Given the description of an element on the screen output the (x, y) to click on. 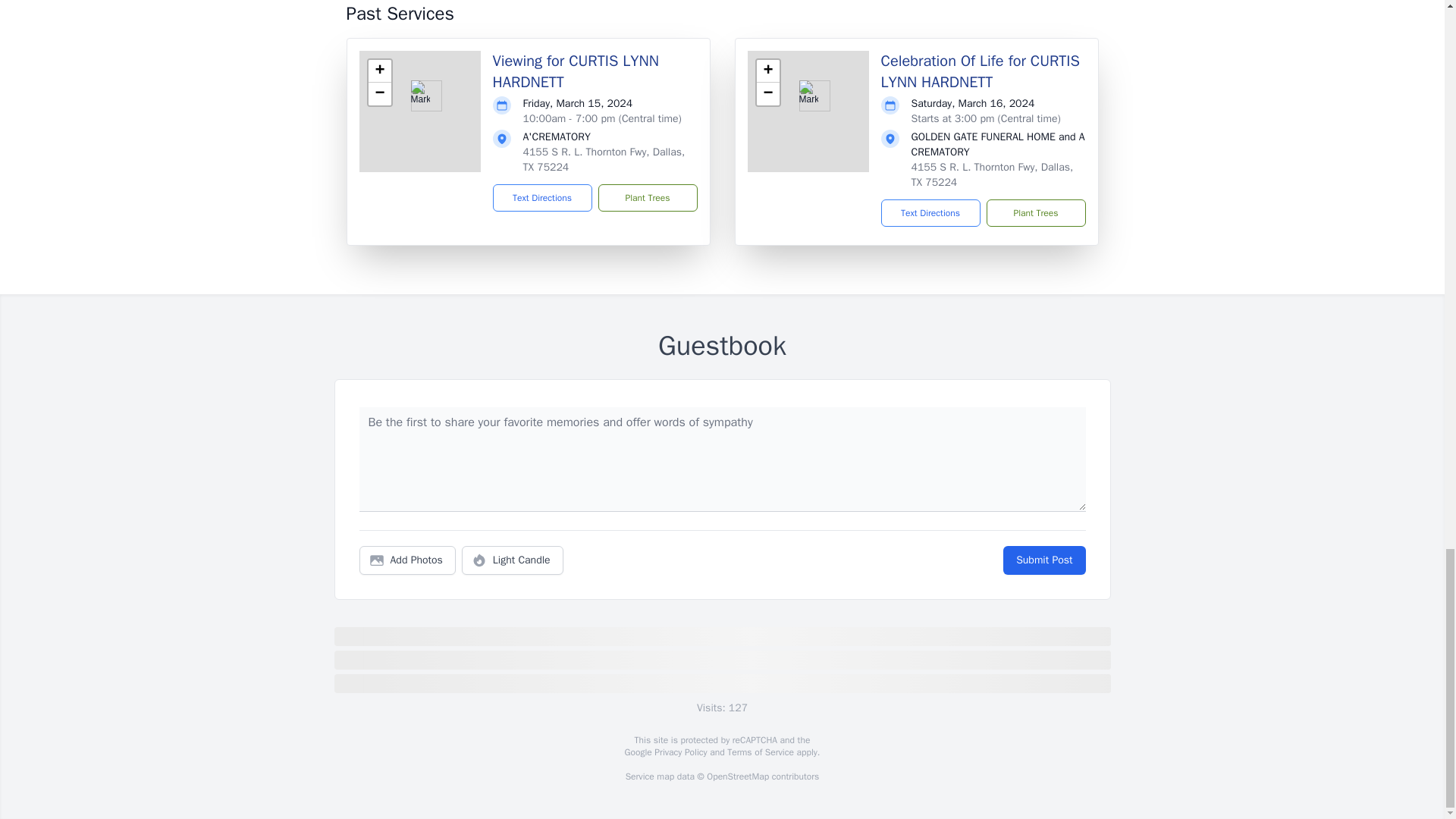
Plant Trees (646, 197)
Terms of Service (759, 752)
4155 S R. L. Thornton Fwy, Dallas, TX 75224 (603, 159)
Zoom out (379, 93)
OpenStreetMap (737, 776)
Submit Post (1043, 560)
Plant Trees (1034, 212)
Light Candle (512, 560)
Add Photos (407, 560)
Zoom in (379, 70)
Text Directions (542, 197)
4155 S R. L. Thornton Fwy, Dallas, TX 75224 (992, 174)
Zoom out (767, 93)
Text Directions (929, 212)
Zoom in (767, 70)
